Given the description of an element on the screen output the (x, y) to click on. 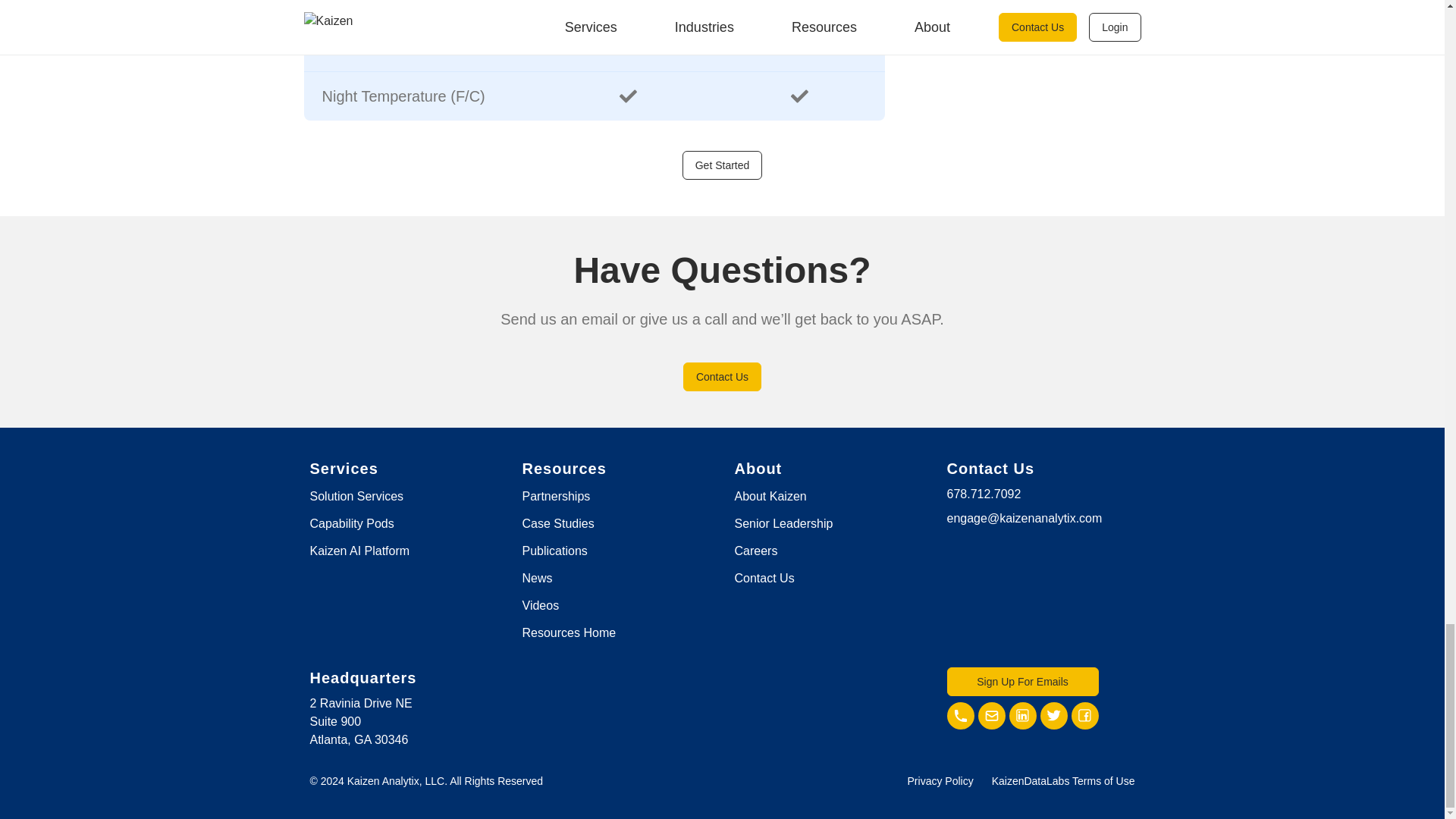
Resources Home (568, 631)
Get Started (722, 164)
Capability Pods (350, 522)
Kaizen AI Platform (358, 549)
Contact Us (721, 375)
Partnerships (555, 495)
Get Started (722, 164)
Publications (553, 549)
Videos (540, 604)
Contact Us (721, 375)
Case Studies (557, 522)
Solution Services (355, 495)
About Kaizen (769, 495)
Senior Leadership (782, 522)
News (536, 576)
